Given the description of an element on the screen output the (x, y) to click on. 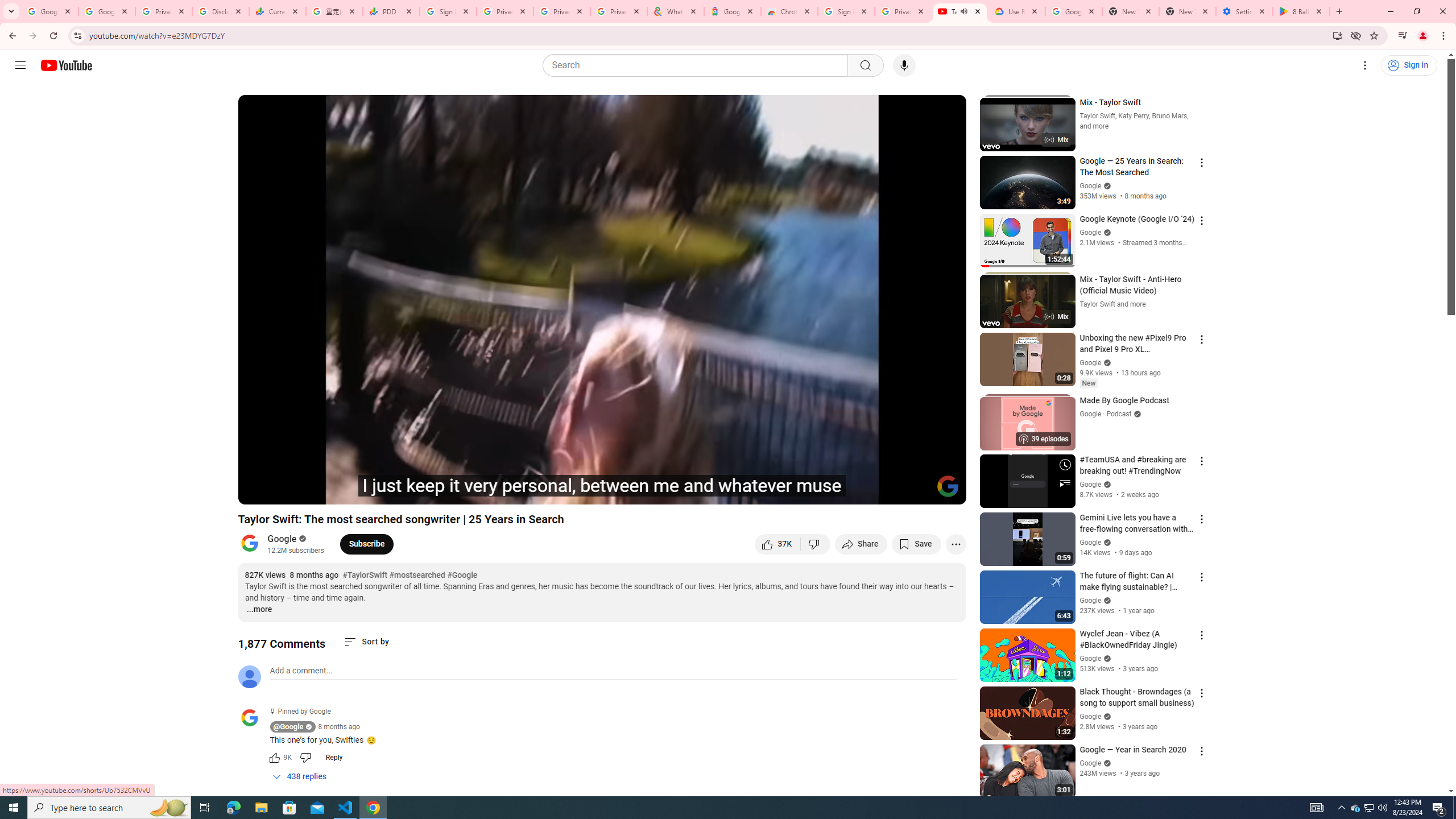
Subtitles/closed captions unavailable (836, 490)
#TaylorSwift (364, 575)
Pause (k) (257, 490)
Share (861, 543)
Sign in - Google Accounts (447, 11)
Channel watermark (947, 486)
YouTube Home (66, 65)
